Given the description of an element on the screen output the (x, y) to click on. 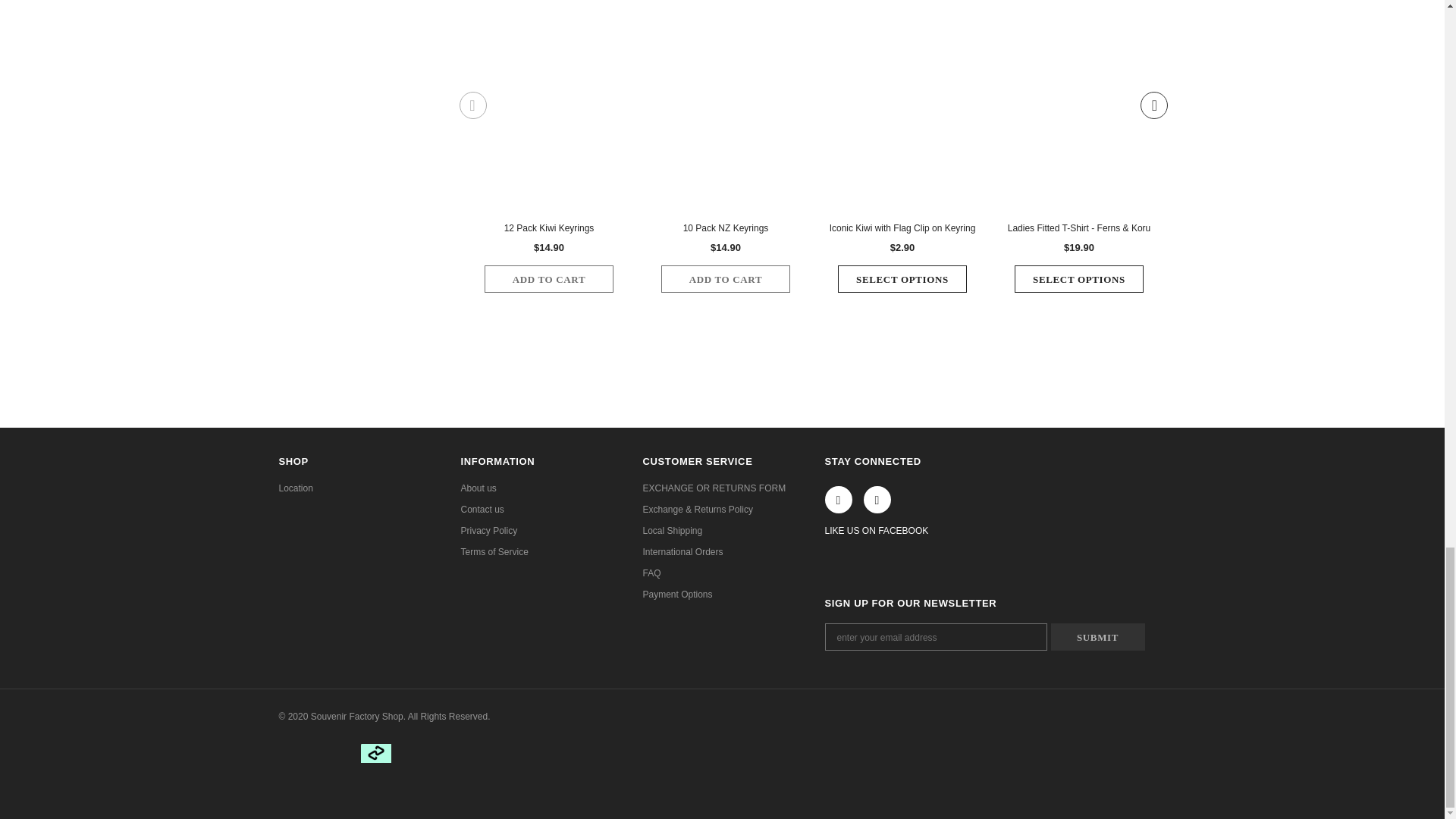
Submit (1097, 636)
